Given the description of an element on the screen output the (x, y) to click on. 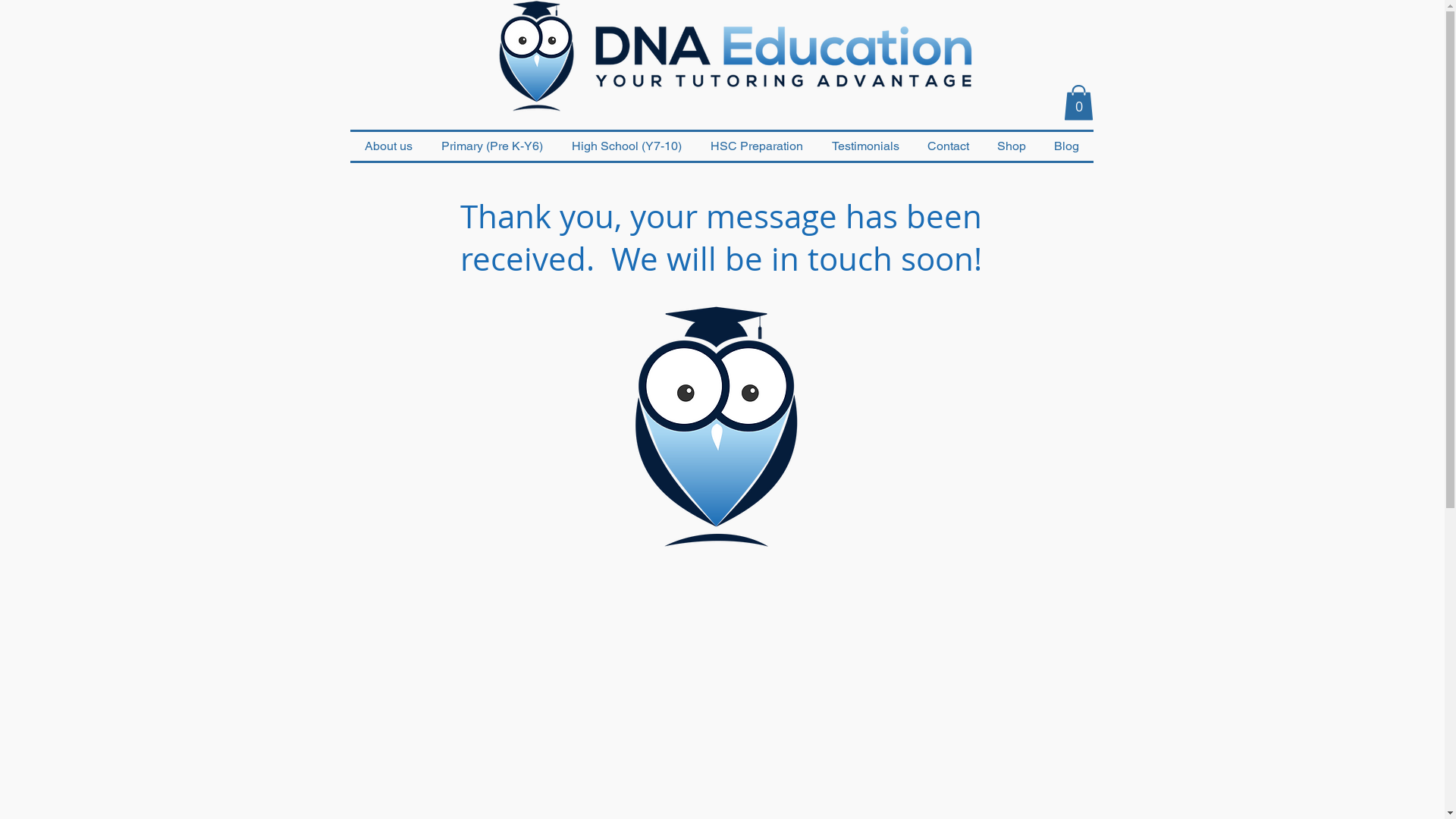
Contact Element type: text (947, 145)
Embedded Content Element type: hover (1006, 556)
Testimonials Element type: text (865, 145)
0 Element type: text (1077, 102)
DNApng.png Element type: hover (723, 57)
Primary (Pre K-Y6) Element type: text (491, 145)
Blog Element type: text (1066, 145)
HSC Preparation Element type: text (756, 145)
About us Element type: text (388, 145)
Shop Element type: text (1010, 145)
High School (Y7-10) Element type: text (625, 145)
Google Maps Element type: hover (721, 699)
